Given the description of an element on the screen output the (x, y) to click on. 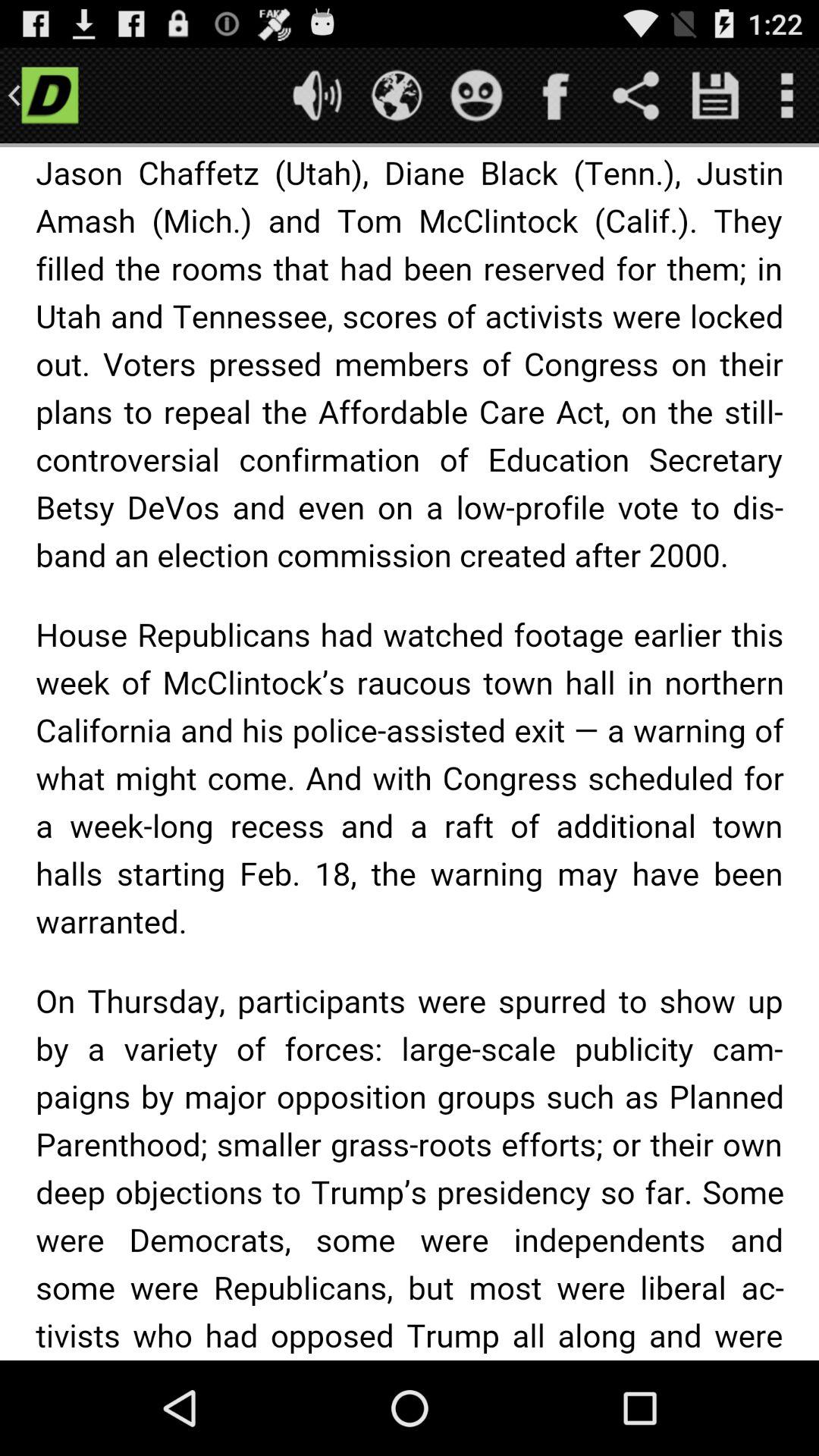
expand options (787, 95)
